Given the description of an element on the screen output the (x, y) to click on. 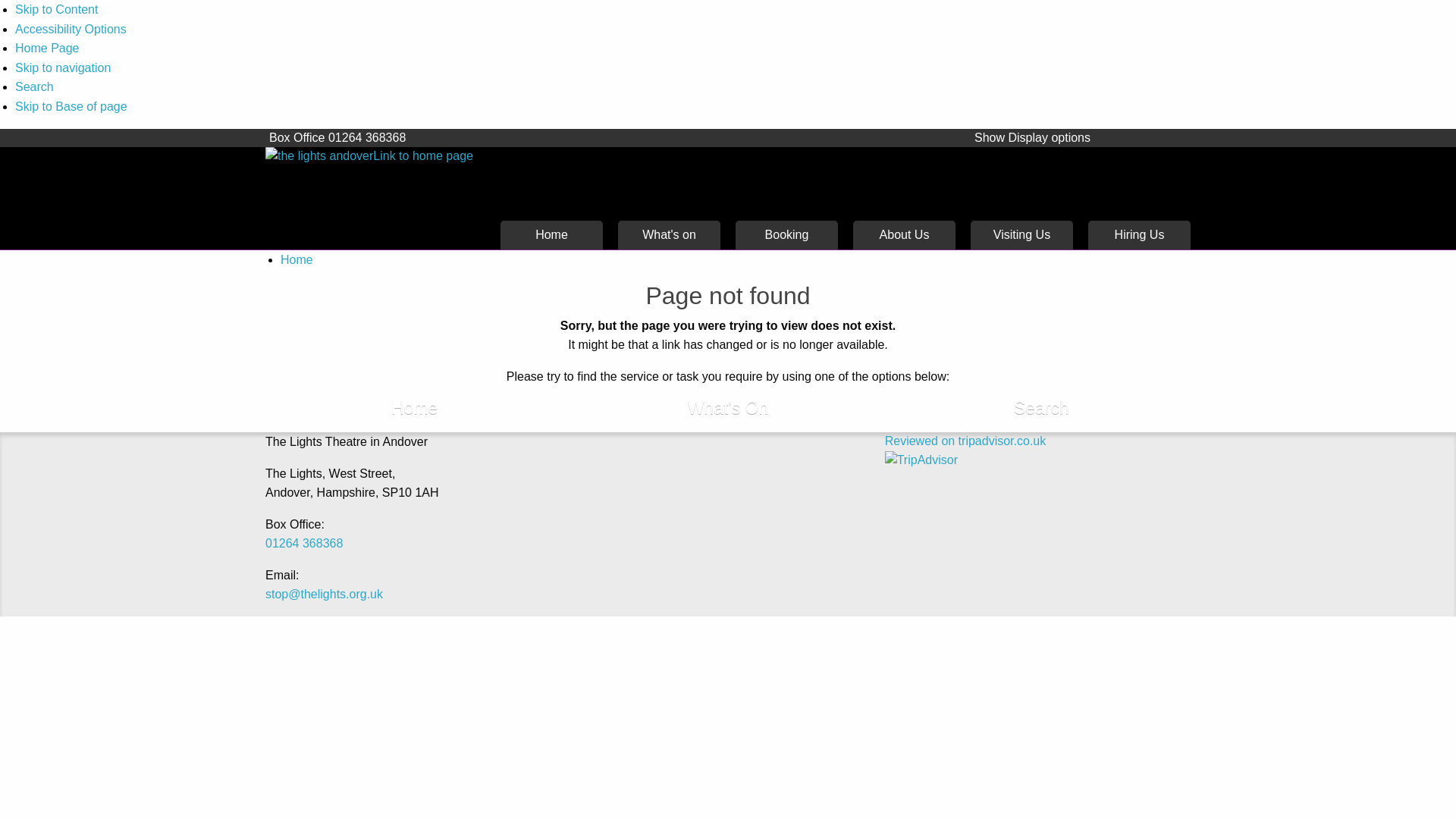
Skip to navigation (62, 67)
Visiting Us (1022, 234)
Show Display options (1032, 137)
Home Page, accesskey 1 (47, 47)
Link to home page (374, 156)
Booking (786, 234)
Home (413, 409)
Skip to Content (55, 9)
Reviewed on tripadvisor.co.uk (965, 441)
Skip to Content, accesskey S (55, 9)
Hiring Us (1139, 234)
Home Page (47, 47)
Search, accesskey 4 (33, 86)
Accessibility Options Page, accesskey 0 (70, 29)
Search (33, 86)
